Given the description of an element on the screen output the (x, y) to click on. 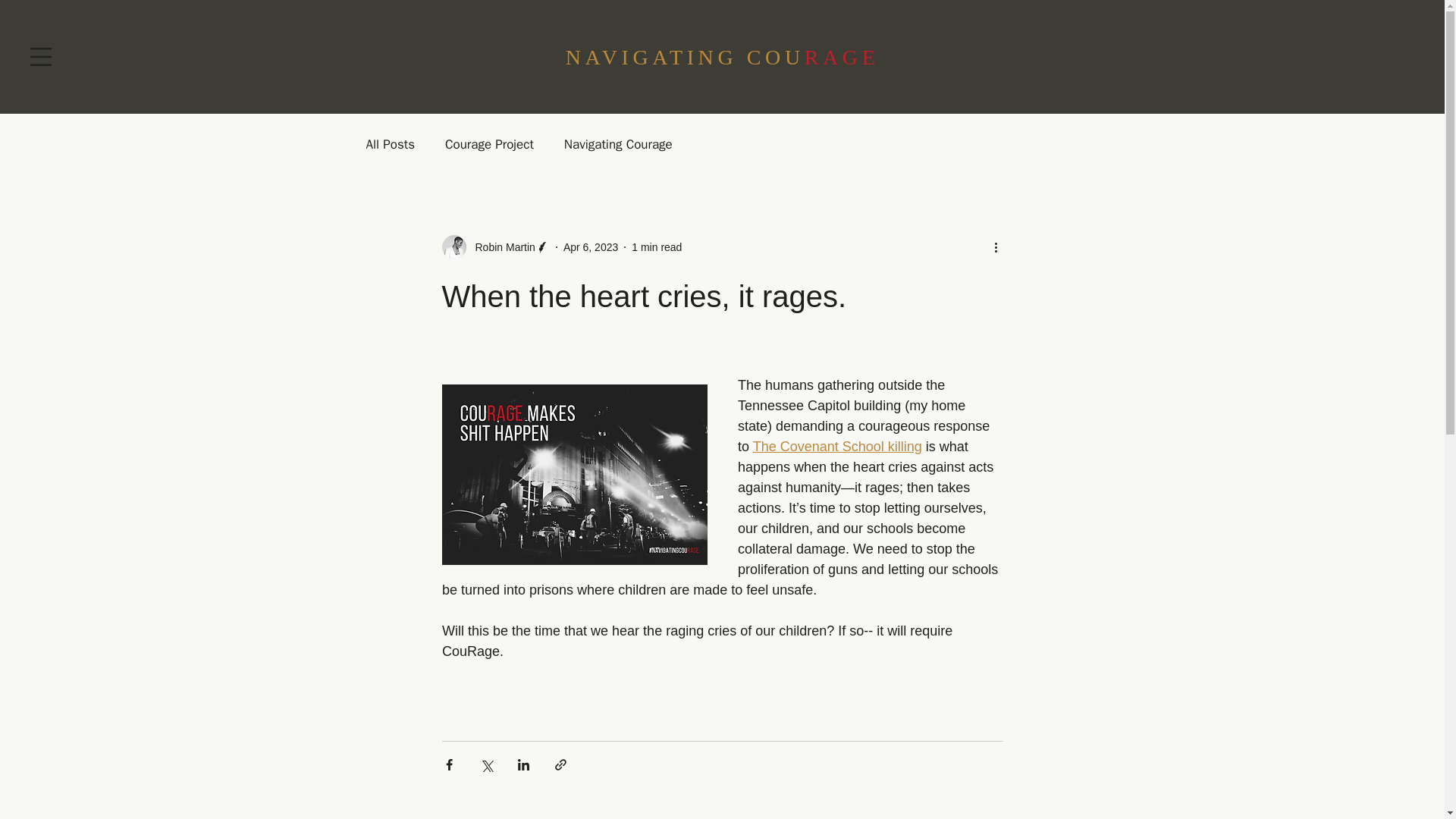
Apr 6, 2023 (590, 246)
Robin Martin (499, 247)
All Posts (389, 143)
Robin Martin (494, 247)
The Covenant School killing (836, 446)
1 min read (656, 246)
NAVIGATING COURAGE (722, 56)
Navigating Courage (618, 143)
Courage Project (489, 143)
